Given the description of an element on the screen output the (x, y) to click on. 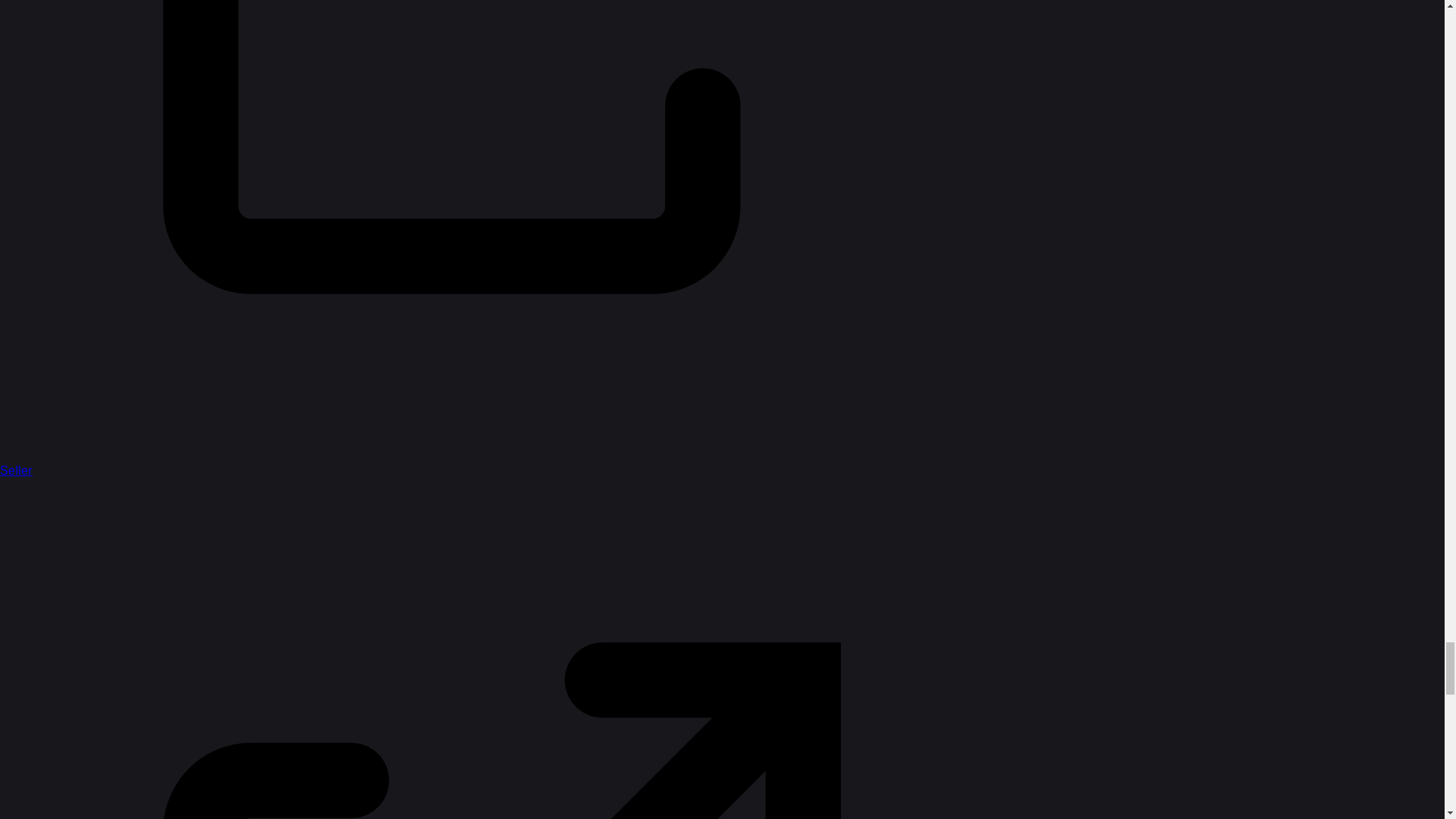
Post date (603, 259)
menu (1403, 86)
Community (708, 93)
Community (424, 181)
Jump to the first post (1348, 232)
Developer (438, 93)
Nov 2014 (1348, 490)
Unreal Engine (593, 93)
2 (559, 259)
Jump to the last post (1348, 490)
Oct 2014 (603, 259)
post last edited on Jun 29, 2022 1:46 pm (559, 259)
Forum (510, 93)
unreal-engine (652, 182)
Decorix (465, 303)
